Given the description of an element on the screen output the (x, y) to click on. 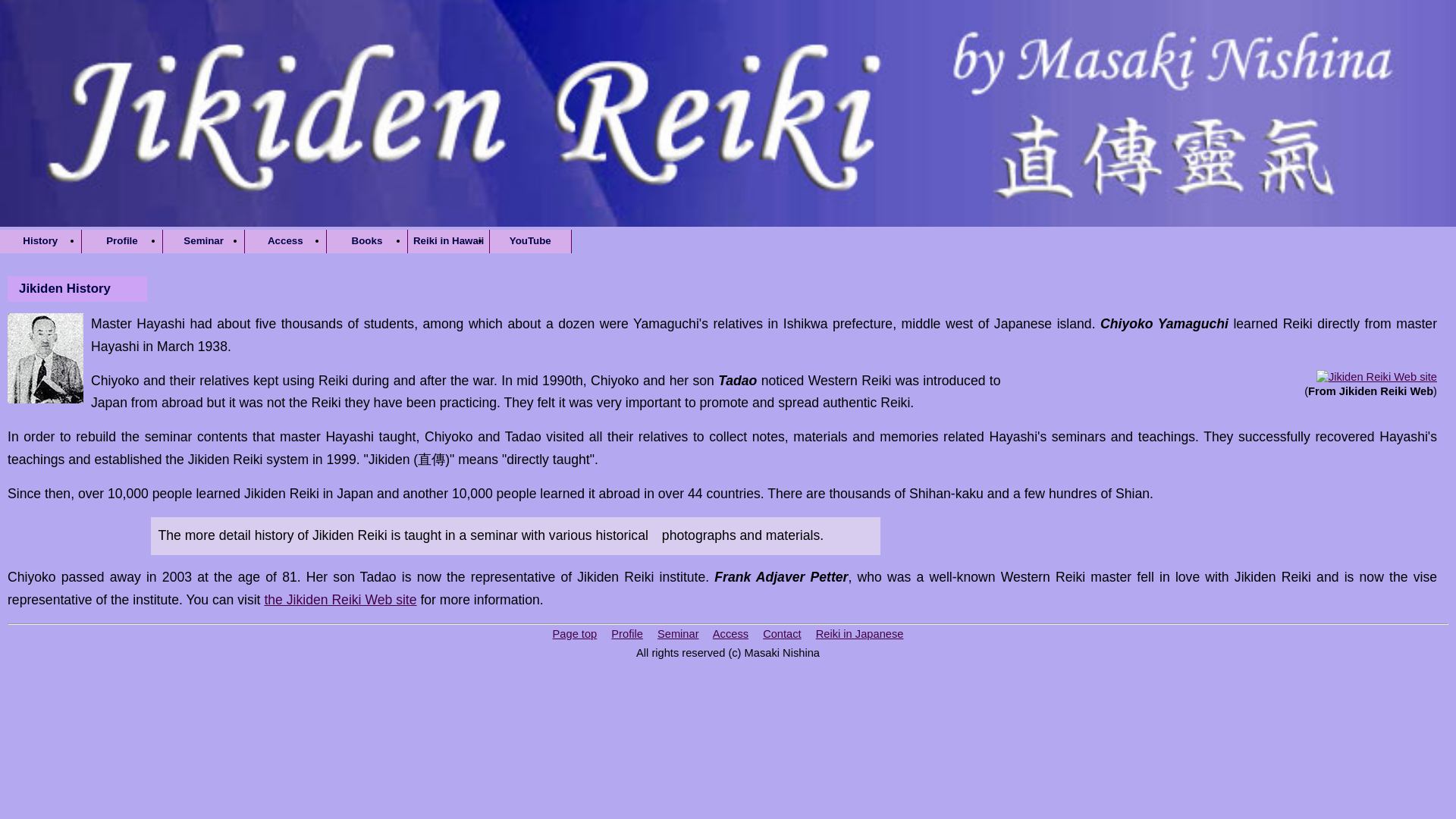
Seminar (678, 633)
Contact (782, 633)
Profile (122, 241)
Books (366, 241)
Reiki in Japanese (859, 633)
Page top (574, 633)
Access (285, 241)
YouTube (529, 241)
History (40, 241)
Profile (627, 633)
